Given the description of an element on the screen output the (x, y) to click on. 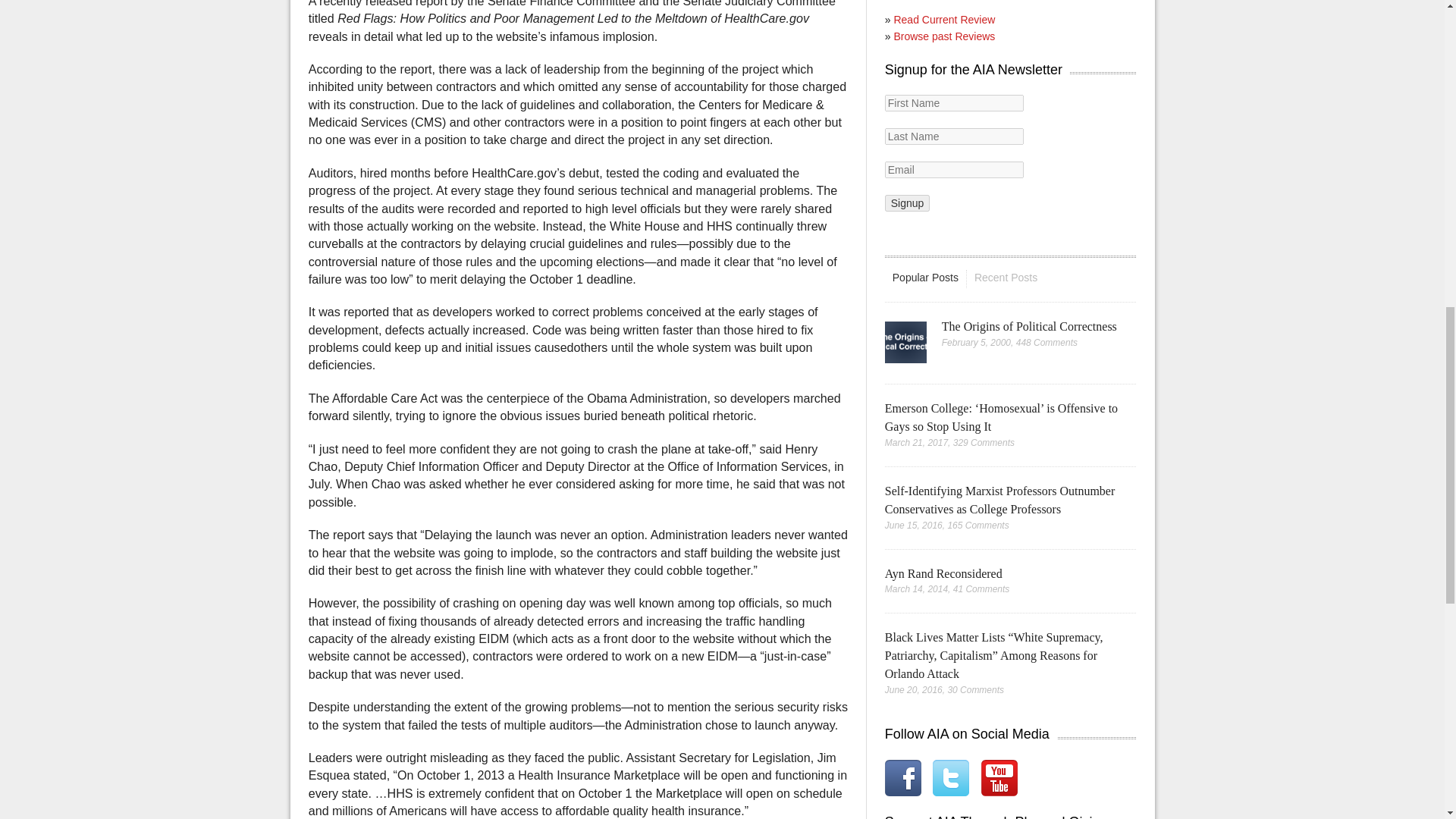
Popular Posts (925, 277)
The Origins of Political Correctness (1029, 326)
Read Current Review (943, 19)
Recent Posts (1005, 277)
Signup (907, 202)
Browse past Reviews (943, 36)
The Origins of Political Correctness (1029, 326)
Ayn Rand Reconsidered (944, 573)
